Given the description of an element on the screen output the (x, y) to click on. 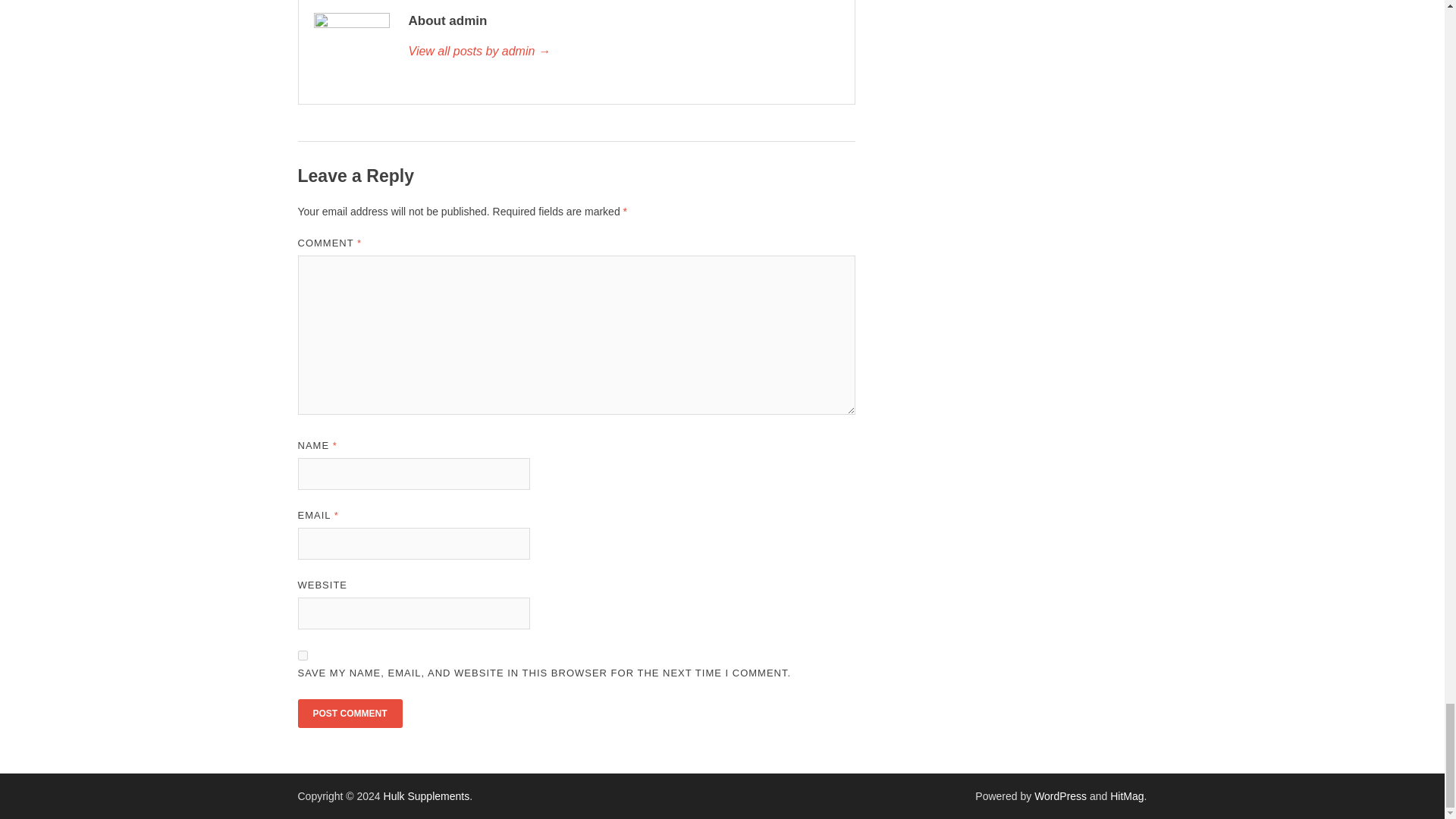
Post Comment (349, 713)
Hulk Supplements (427, 796)
Post Comment (349, 713)
yes (302, 655)
admin (622, 51)
WordPress (1059, 796)
HitMag WordPress Theme (1125, 796)
